Given the description of an element on the screen output the (x, y) to click on. 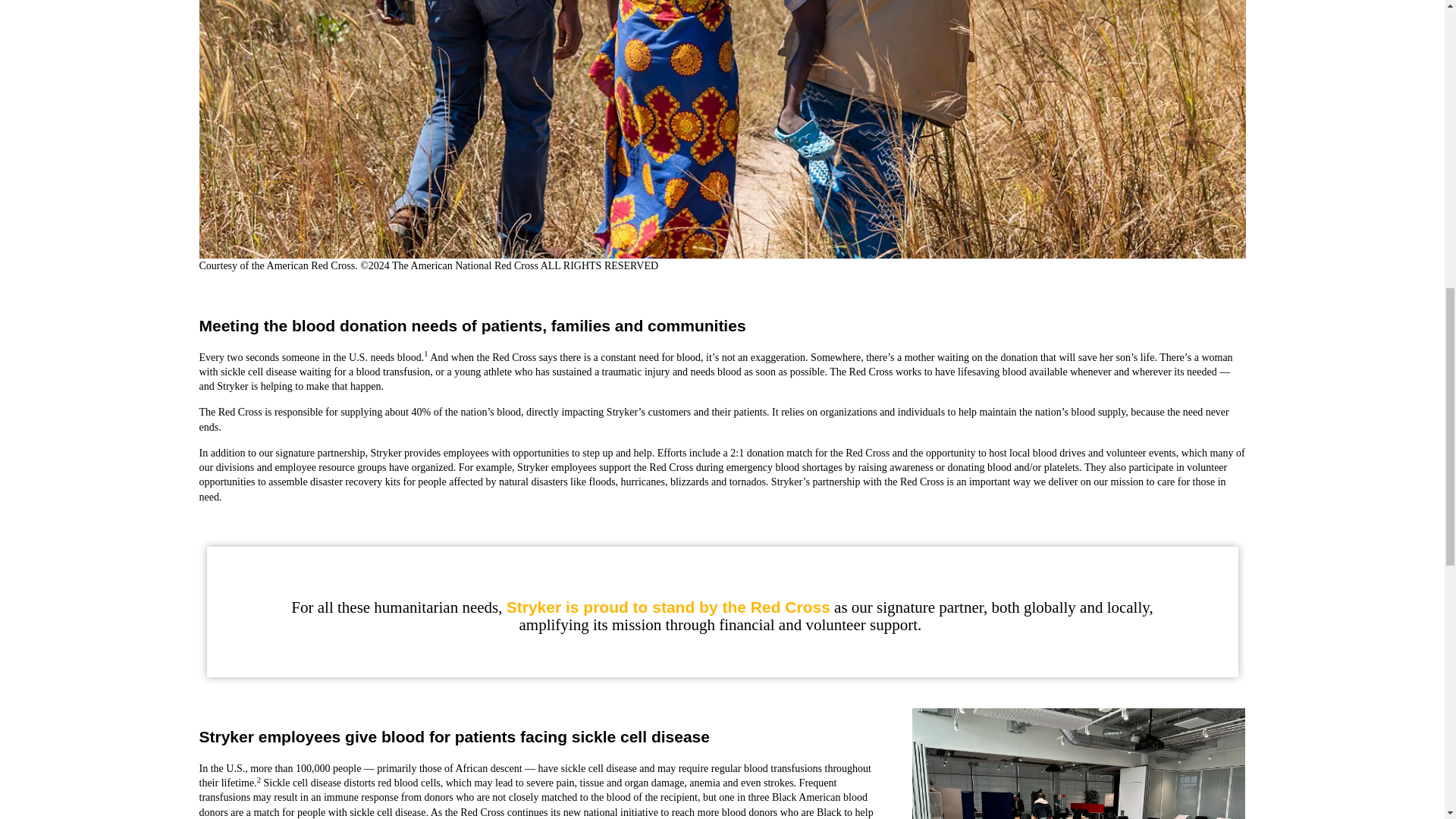
Blood drive (1077, 763)
